Given the description of an element on the screen output the (x, y) to click on. 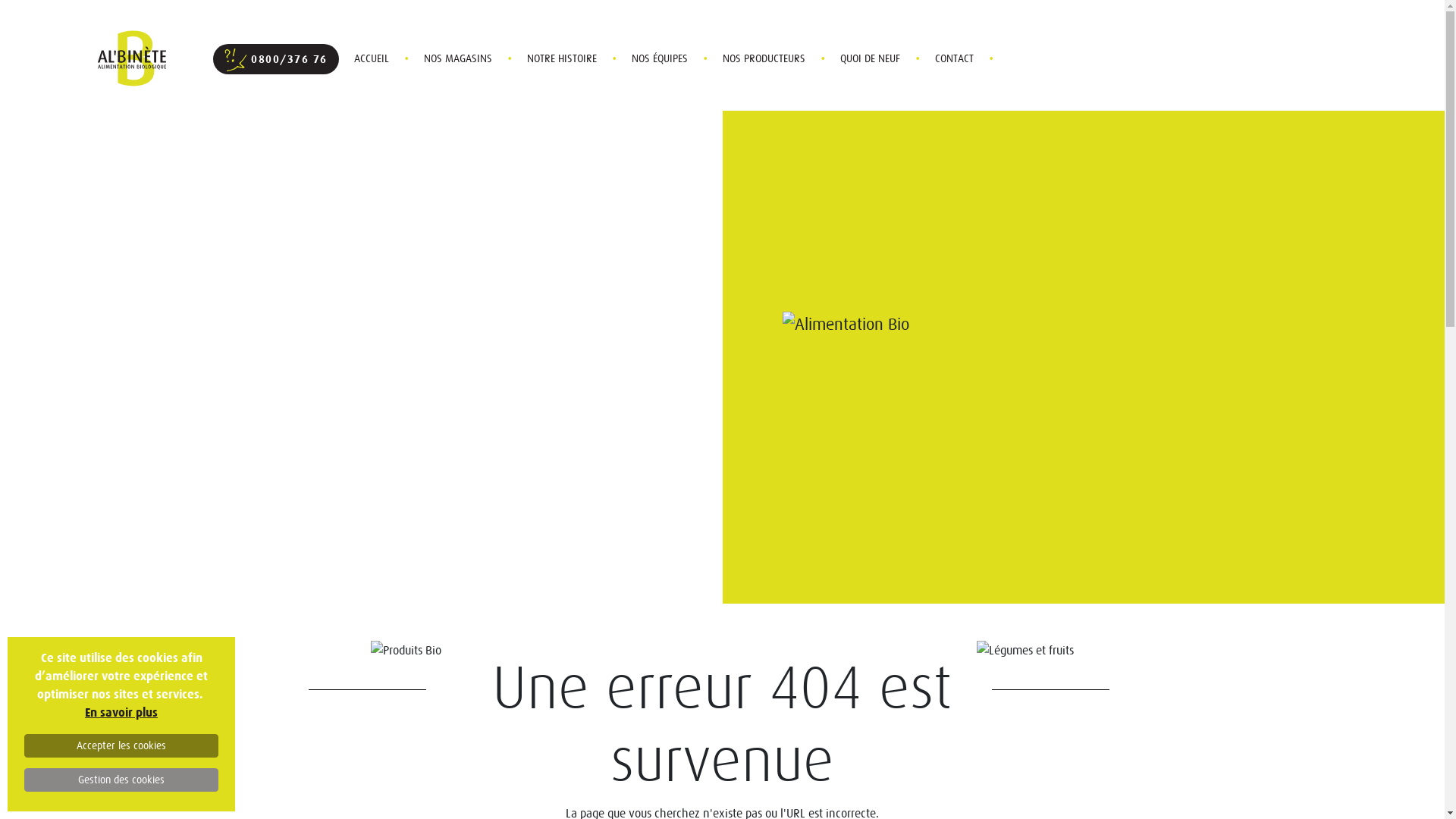
NOTRE HISTOIRE Element type: text (560, 57)
Gestion des cookies Element type: text (121, 779)
En savoir plus Element type: text (120, 712)
NOS PRODUCTEURS Element type: text (763, 57)
CONTACT Element type: text (953, 57)
QUOI DE NEUF Element type: text (869, 57)
NOS MAGASINS Element type: text (456, 57)
ACCUEIL Element type: text (370, 57)
Accepter les cookies Element type: text (121, 745)
0800/376 76 Element type: text (275, 58)
